Given the description of an element on the screen output the (x, y) to click on. 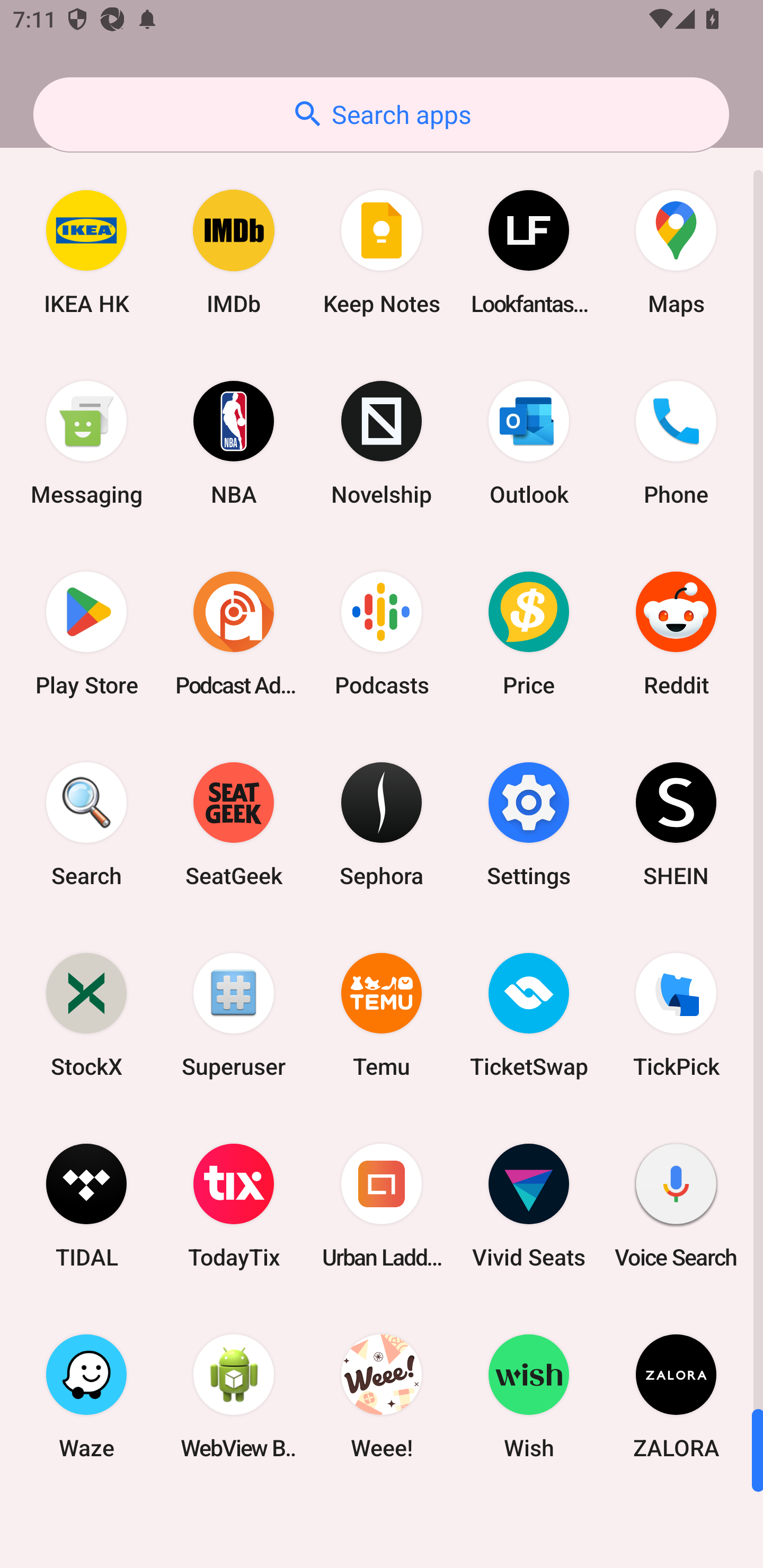
  Search apps (381, 114)
IKEA HK (86, 252)
IMDb (233, 252)
Keep Notes (381, 252)
Lookfantastic (528, 252)
Maps (676, 252)
Messaging (86, 442)
NBA (233, 442)
Novelship (381, 442)
Outlook (528, 442)
Phone (676, 442)
Play Store (86, 633)
Podcast Addict (233, 633)
Podcasts (381, 633)
Price (528, 633)
Reddit (676, 633)
Search (86, 823)
SeatGeek (233, 823)
Sephora (381, 823)
Settings (528, 823)
SHEIN (676, 823)
StockX (86, 1014)
Superuser (233, 1014)
Temu (381, 1014)
TicketSwap (528, 1014)
TickPick (676, 1014)
TIDAL (86, 1205)
TodayTix (233, 1205)
Urban Ladder (381, 1205)
Vivid Seats (528, 1205)
Voice Search (676, 1205)
Waze (86, 1396)
WebView Browser Tester (233, 1396)
Weee! (381, 1396)
Wish (528, 1396)
ZALORA (676, 1396)
